Given the description of an element on the screen output the (x, y) to click on. 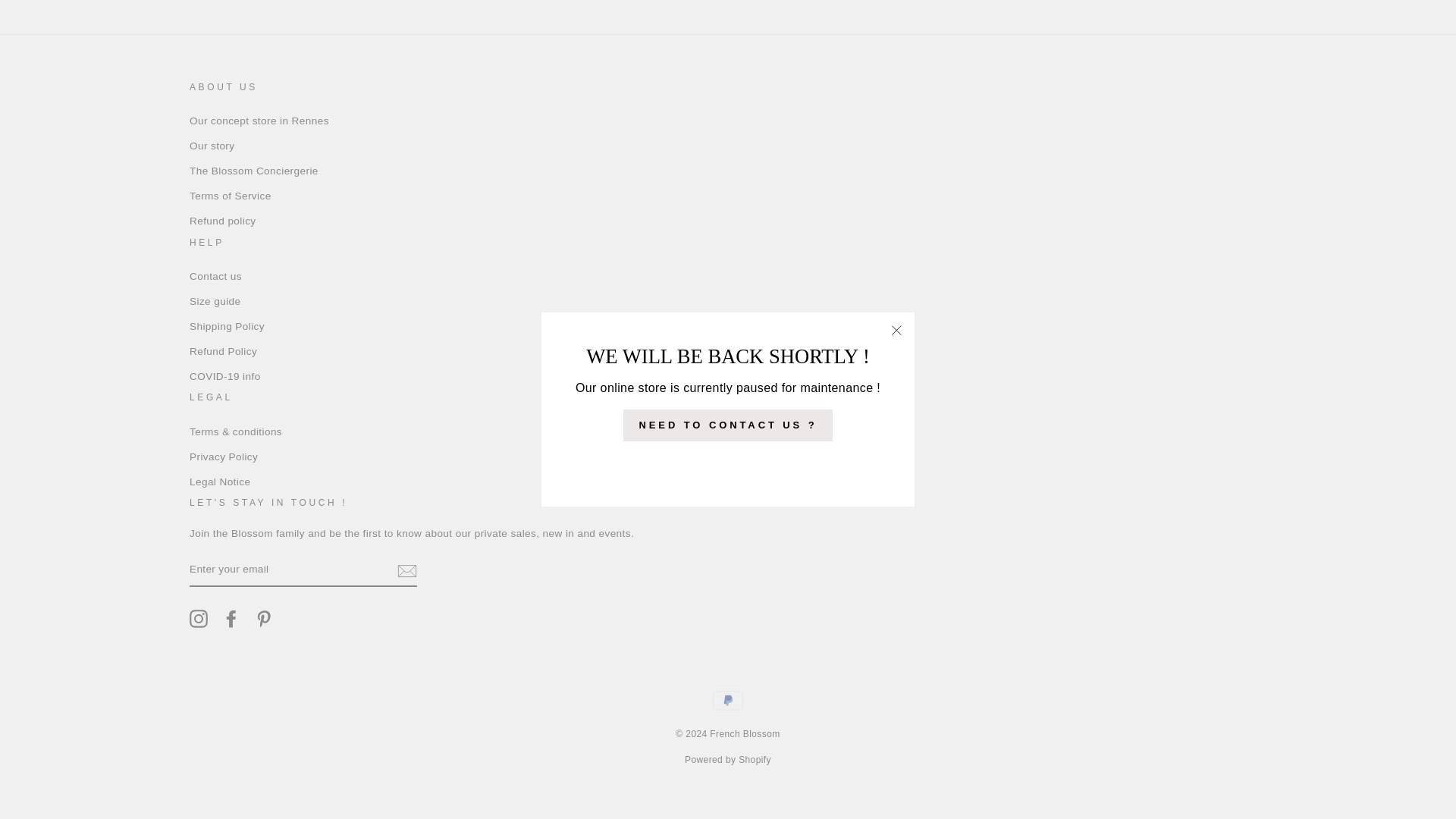
PayPal (727, 700)
